Given the description of an element on the screen output the (x, y) to click on. 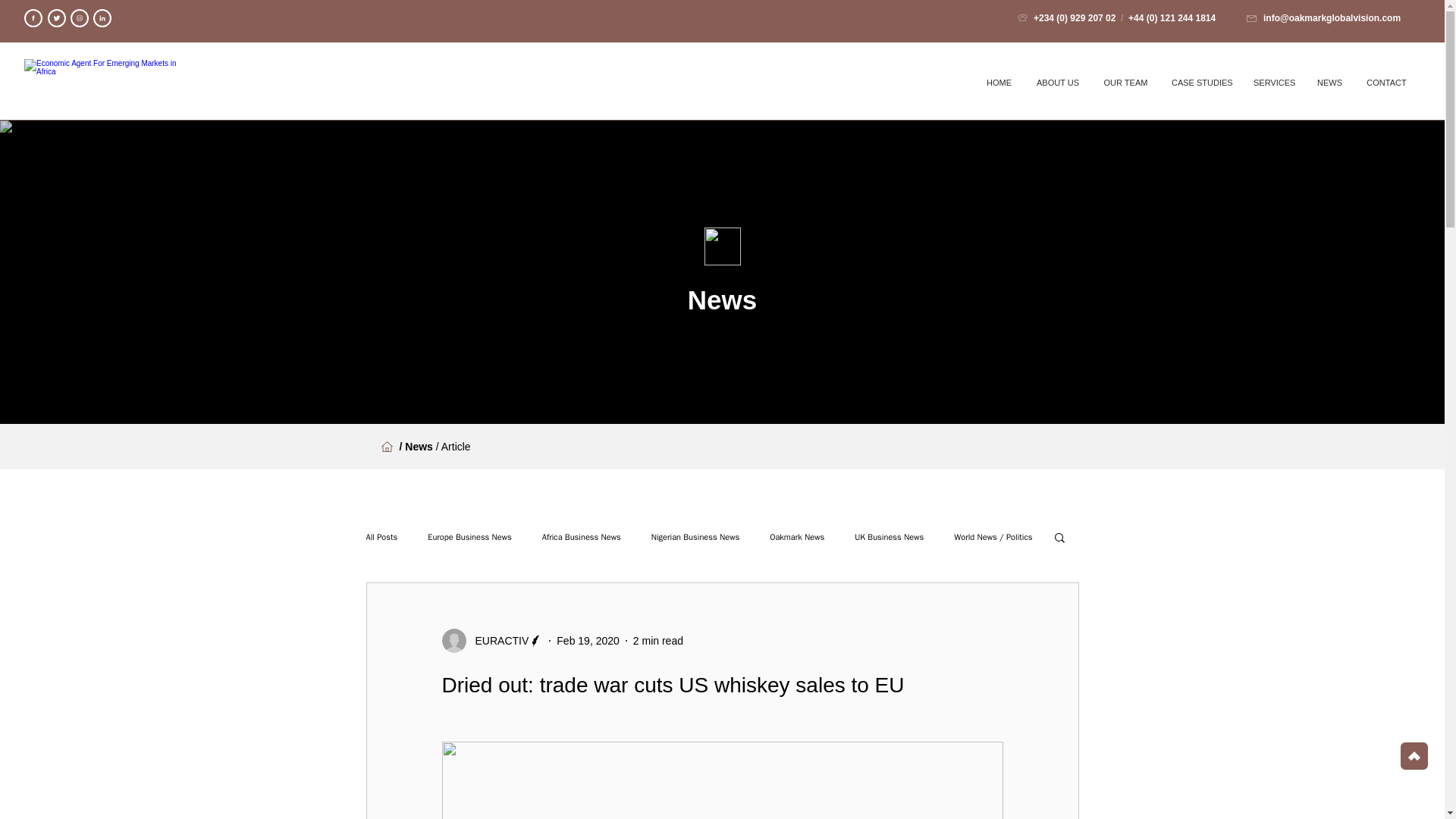
Oakmark News (797, 536)
HOME (999, 82)
Africa Business News (581, 536)
Oakmark Global Vision (107, 81)
Nigerian Business News (694, 536)
OUR TEAM (1125, 82)
2 min read (657, 639)
ABOUT US (1057, 82)
Europe Business News (470, 536)
UK Business News (888, 536)
